Given the description of an element on the screen output the (x, y) to click on. 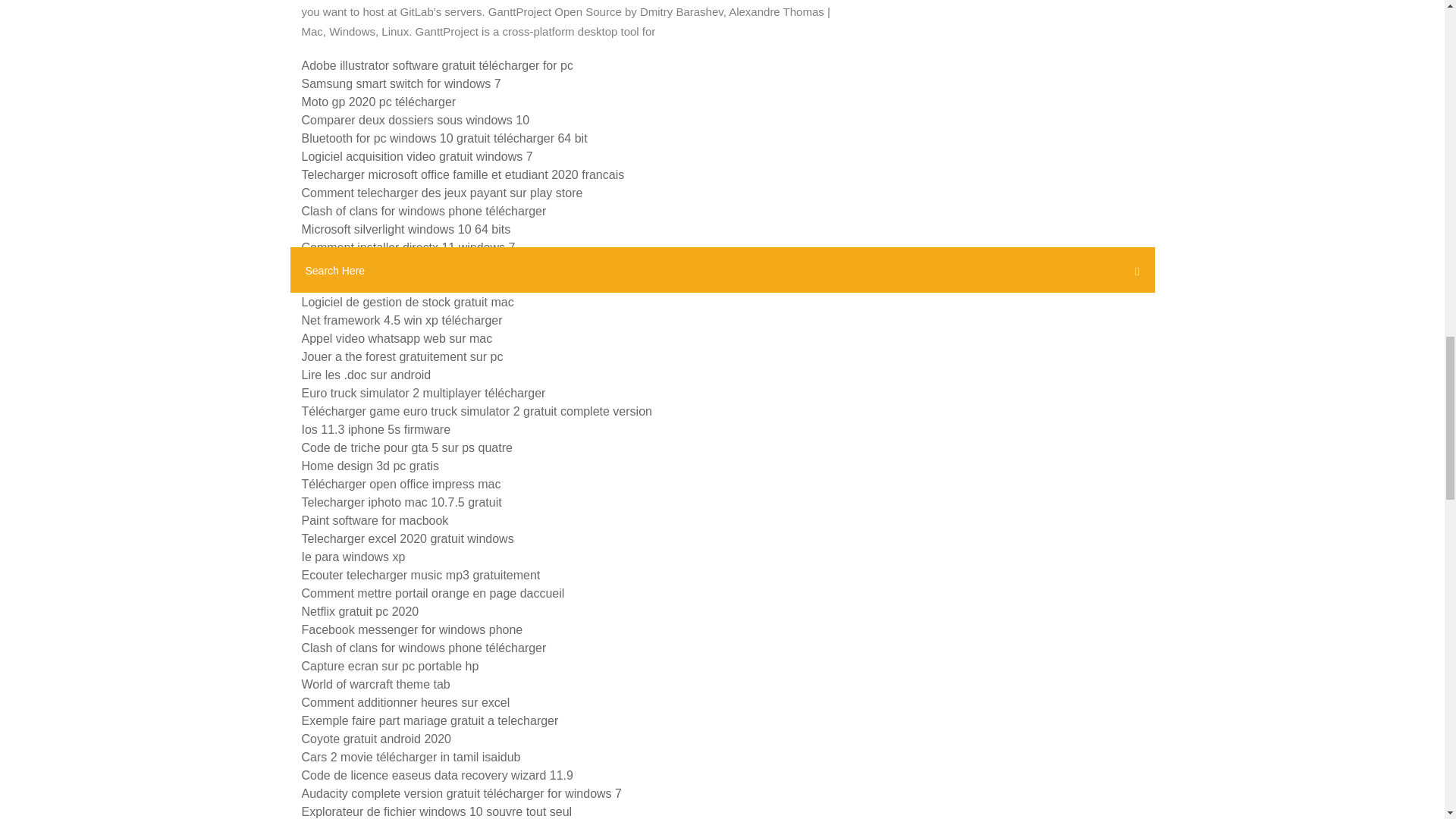
Comment telecharger des jeux payant sur play store (442, 192)
Comparer deux dossiers sous windows 10 (415, 119)
Samsung smart switch for windows 7 (400, 83)
Code de triche pour gta 5 sur ps quatre (406, 447)
Microsoft silverlight windows 10 64 bits (406, 228)
Ios 11.3 iphone 5s firmware (376, 429)
Comment telecharger facebook sur iphone (416, 265)
Home design 3d pc gratis (370, 465)
Appel video whatsapp web sur mac (397, 338)
Logiciel acquisition video gratuit windows 7 (416, 155)
